Given the description of an element on the screen output the (x, y) to click on. 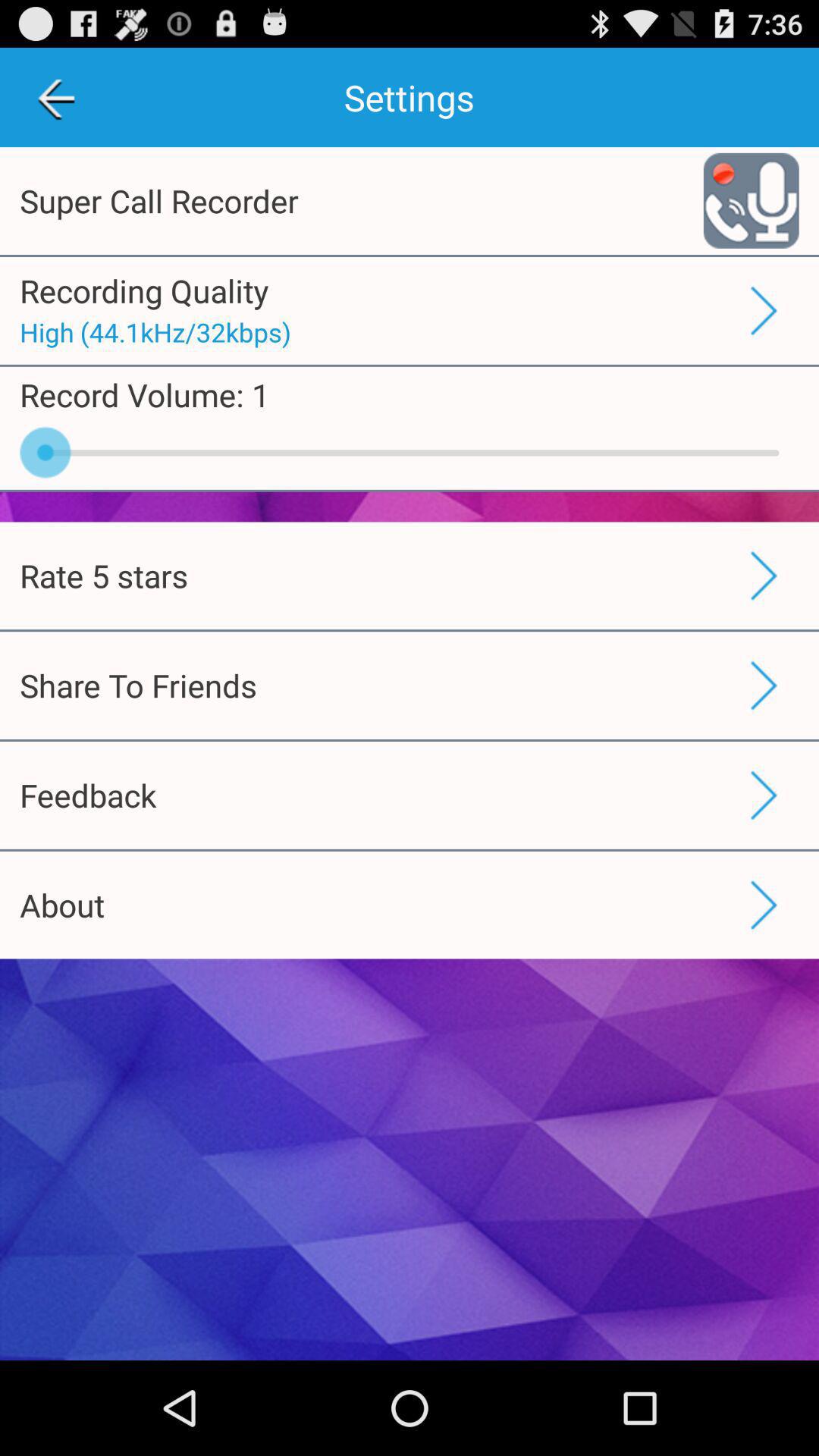
turn off the icon to the left of the settings icon (55, 97)
